Given the description of an element on the screen output the (x, y) to click on. 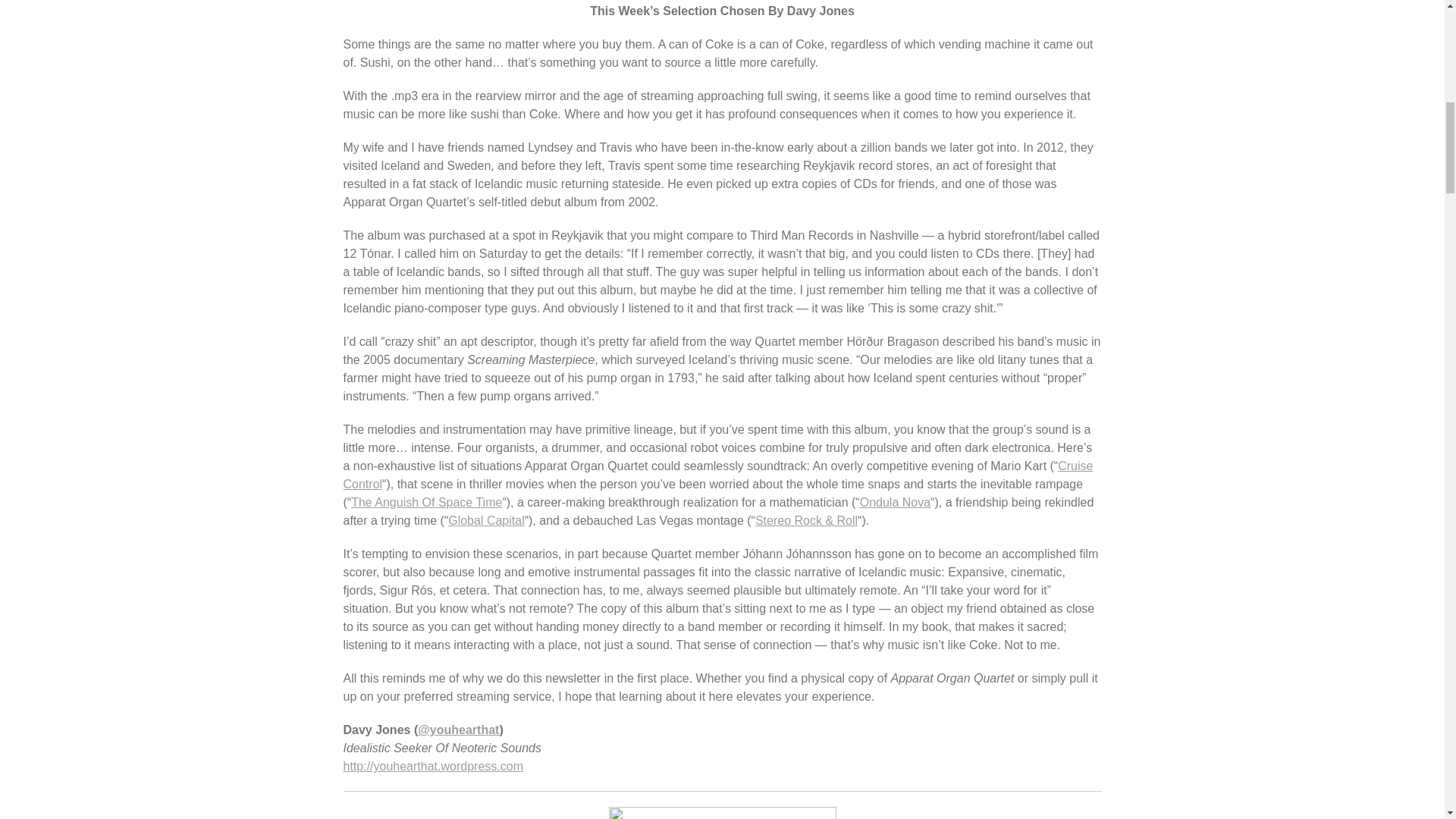
Global Capital (486, 520)
The Anguish Of Space Time (426, 502)
Cruise Control (717, 474)
Ondula Nova (895, 502)
